Given the description of an element on the screen output the (x, y) to click on. 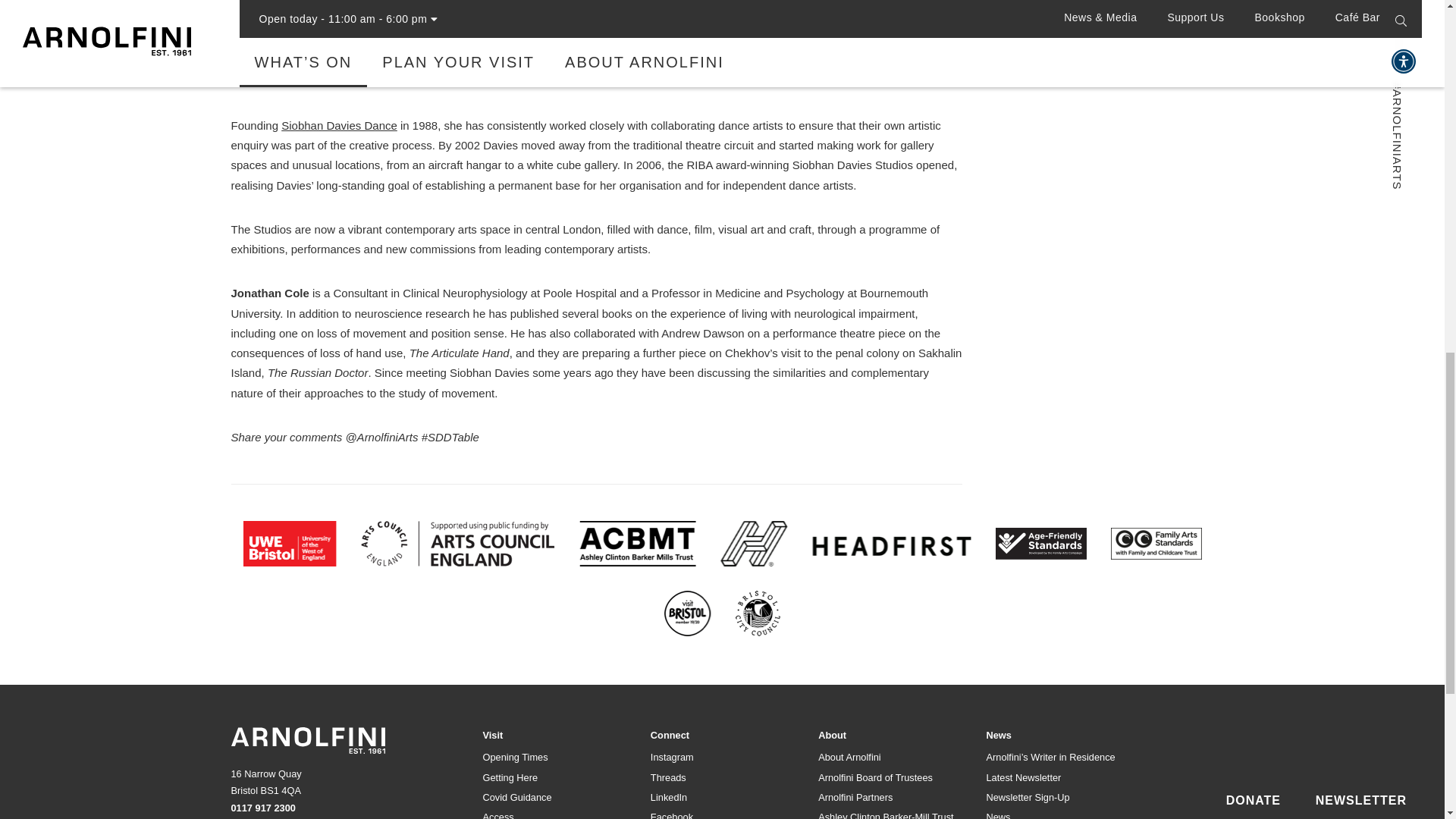
Subscribe (1153, 429)
Siobhan Davies Dance (339, 124)
